Given the description of an element on the screen output the (x, y) to click on. 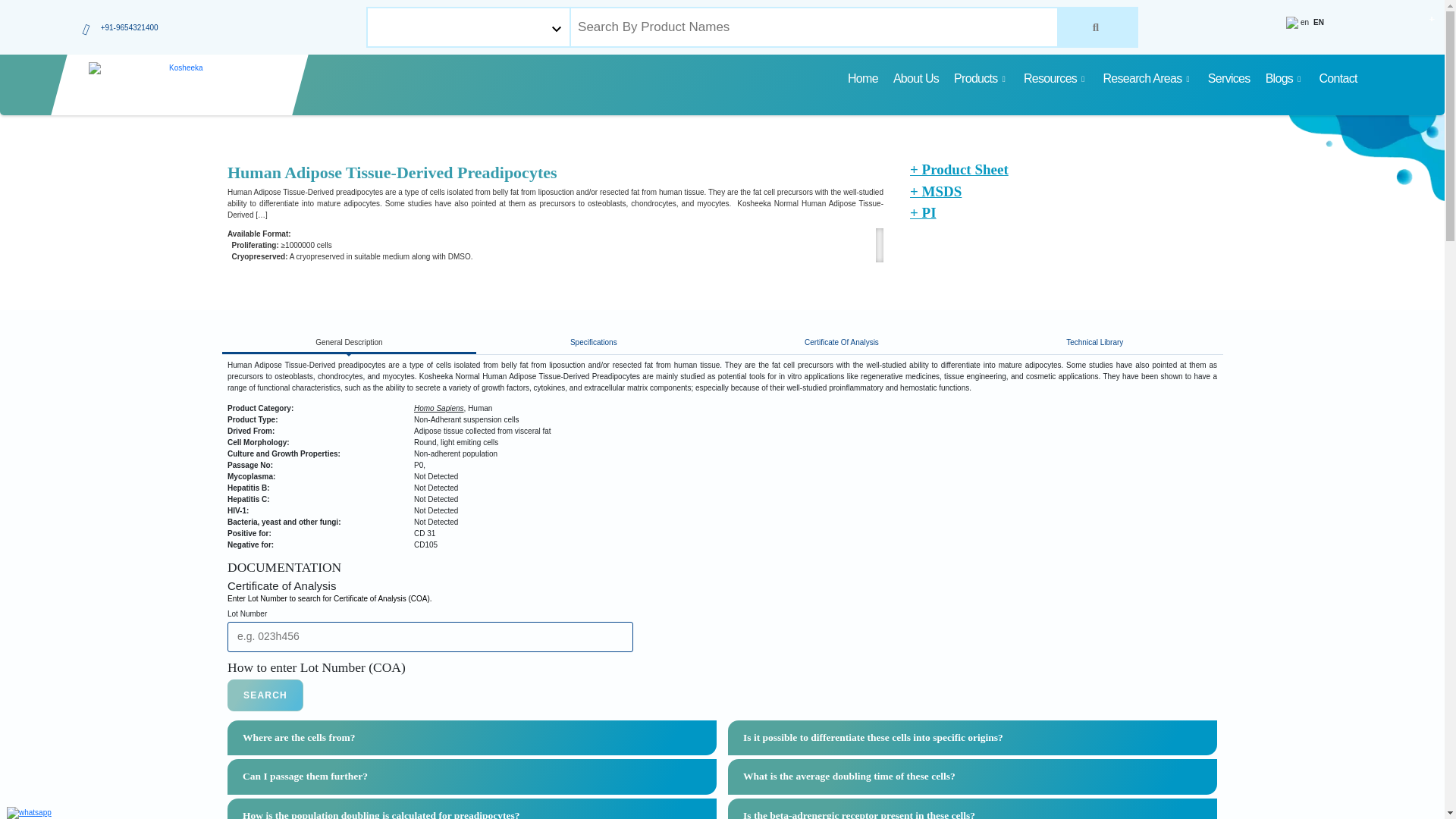
Products (981, 78)
About Us (915, 78)
Home (862, 78)
